Given the description of an element on the screen output the (x, y) to click on. 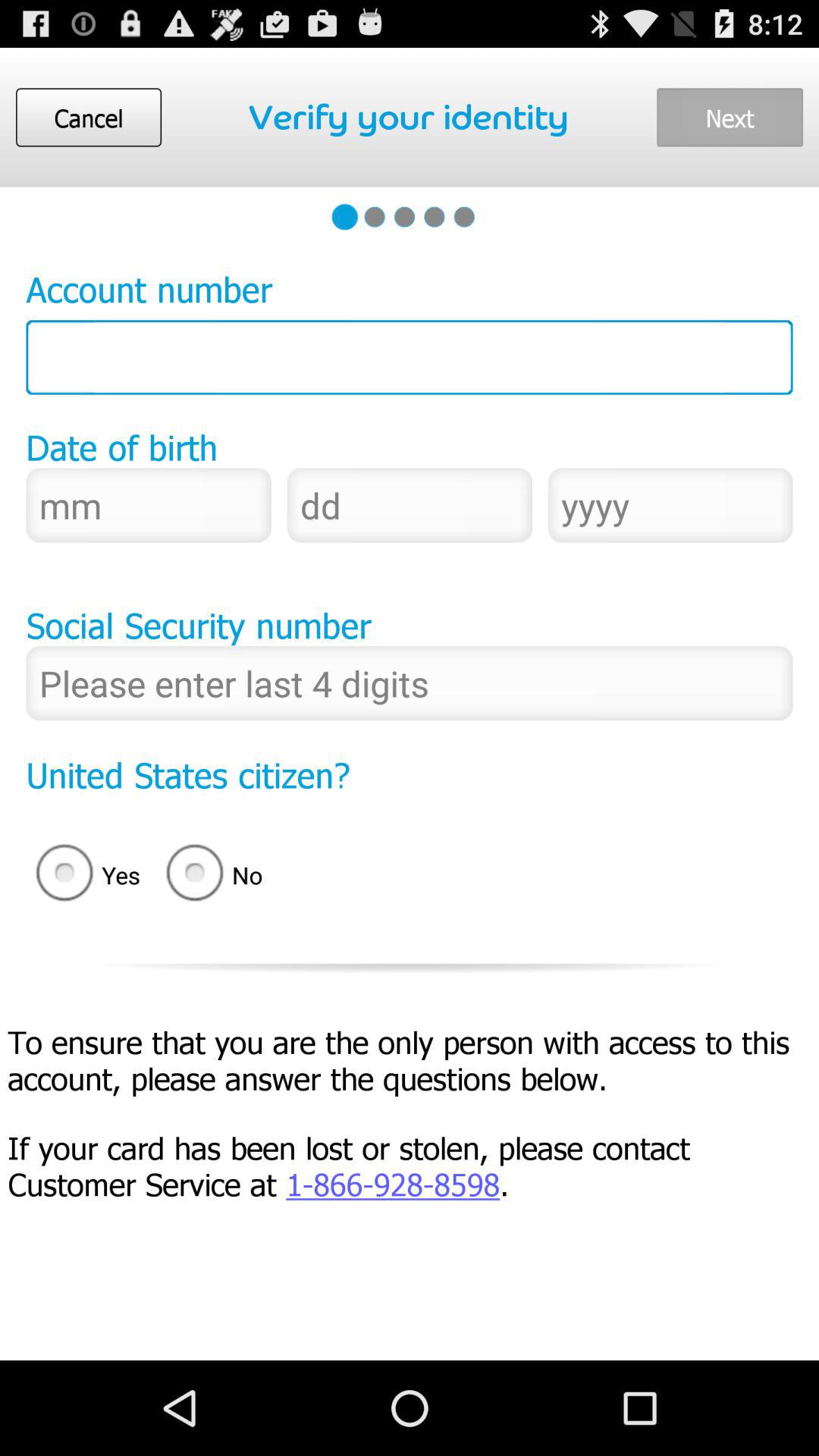
launch the item to the right of yes icon (219, 875)
